Given the description of an element on the screen output the (x, y) to click on. 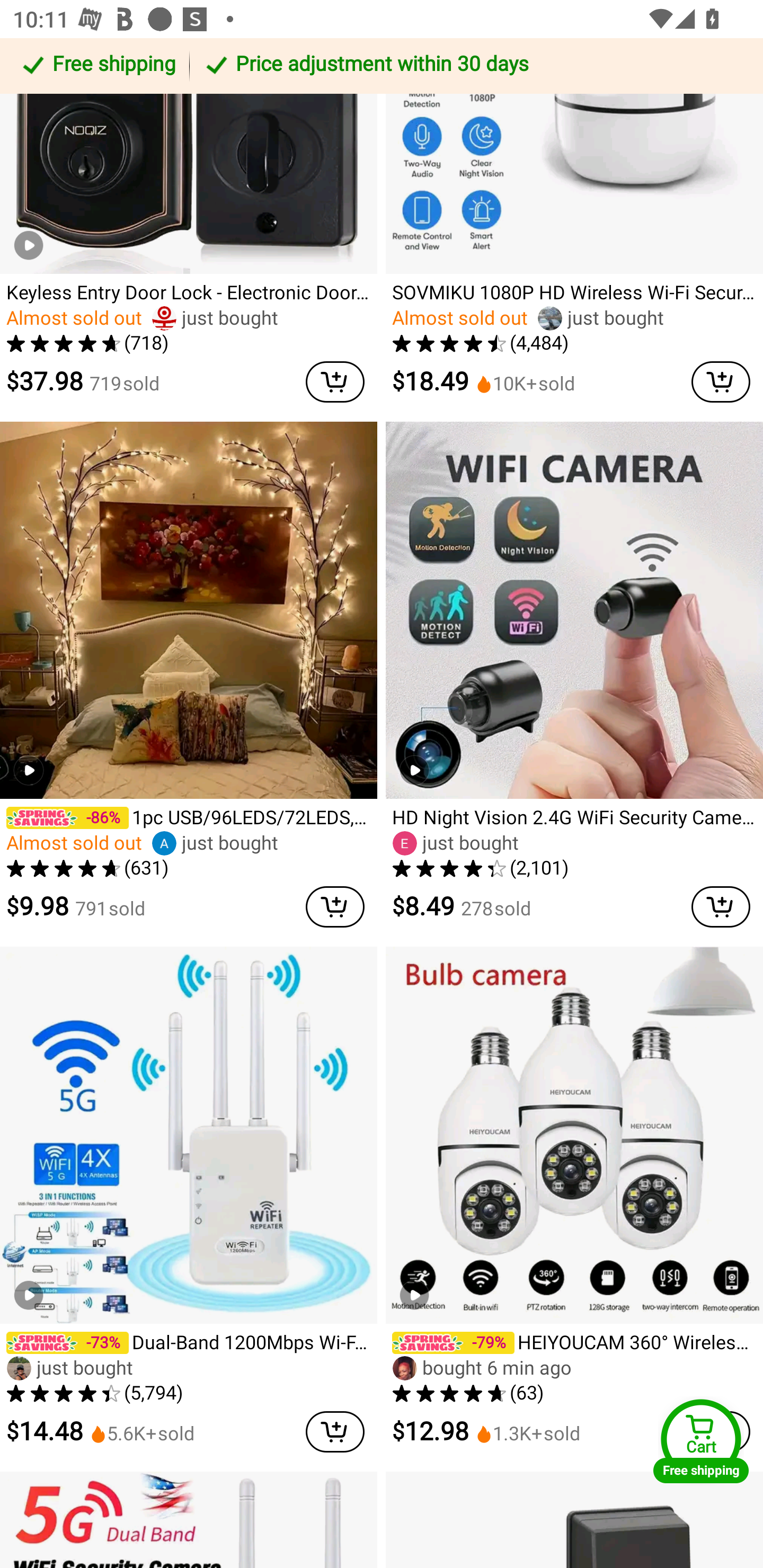
Free shipping (97, 65)
Price adjustment within 30 days (472, 65)
cart delete (334, 381)
cart delete (720, 381)
cart delete (334, 906)
cart delete (720, 906)
Cart Free shipping Cart (701, 1440)
cart delete (334, 1431)
